Given the description of an element on the screen output the (x, y) to click on. 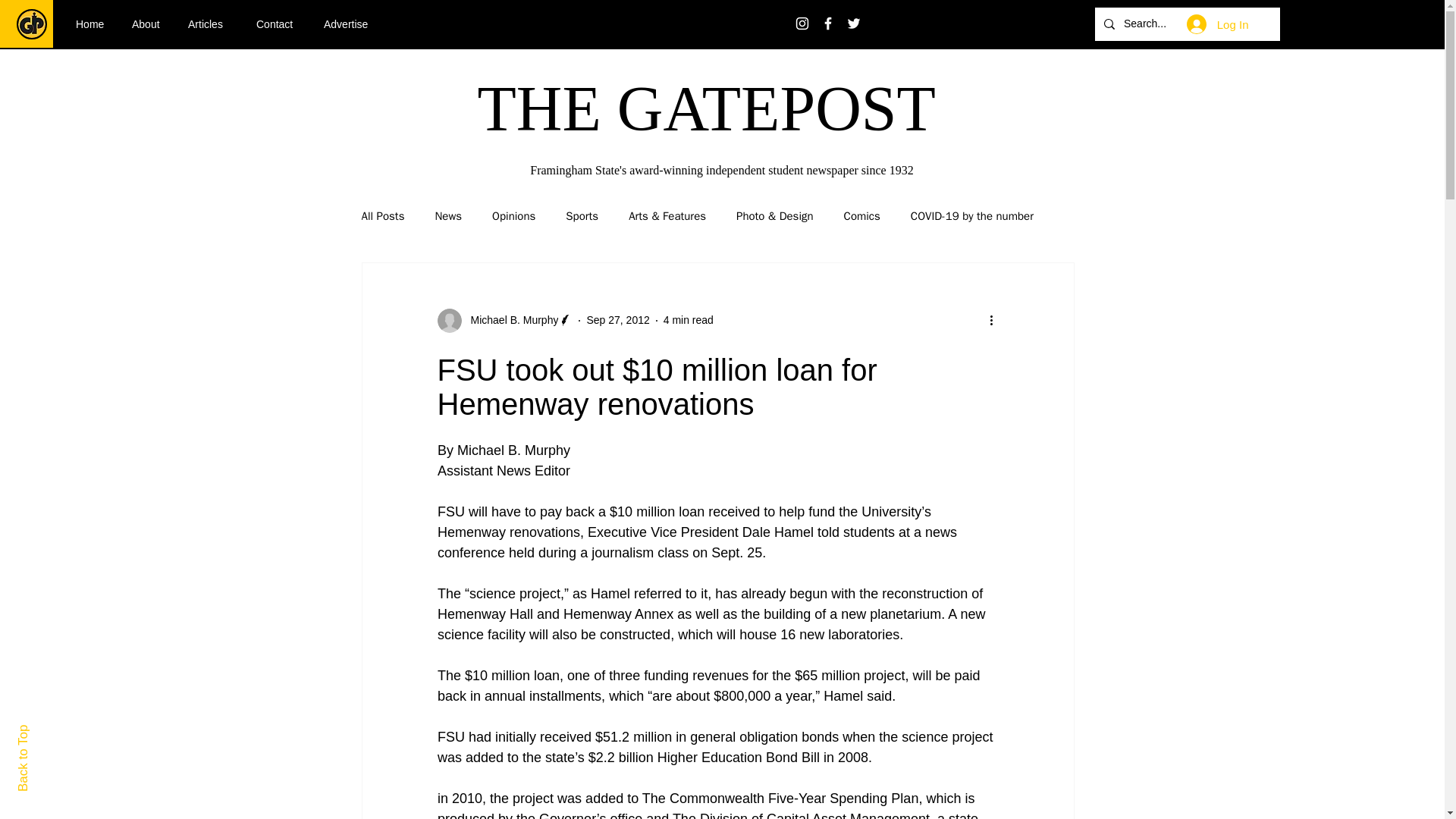
Comics (862, 216)
Michael B. Murphy (509, 320)
Log In (1217, 23)
All Posts (382, 216)
Articles (210, 24)
Home (92, 24)
Sports (582, 216)
COVID-19 by the number (972, 216)
Michael B. Murphy (504, 320)
Contact (278, 24)
4 min read (688, 319)
Sep 27, 2012 (617, 319)
Opinions (513, 216)
News (447, 216)
About (148, 24)
